Given the description of an element on the screen output the (x, y) to click on. 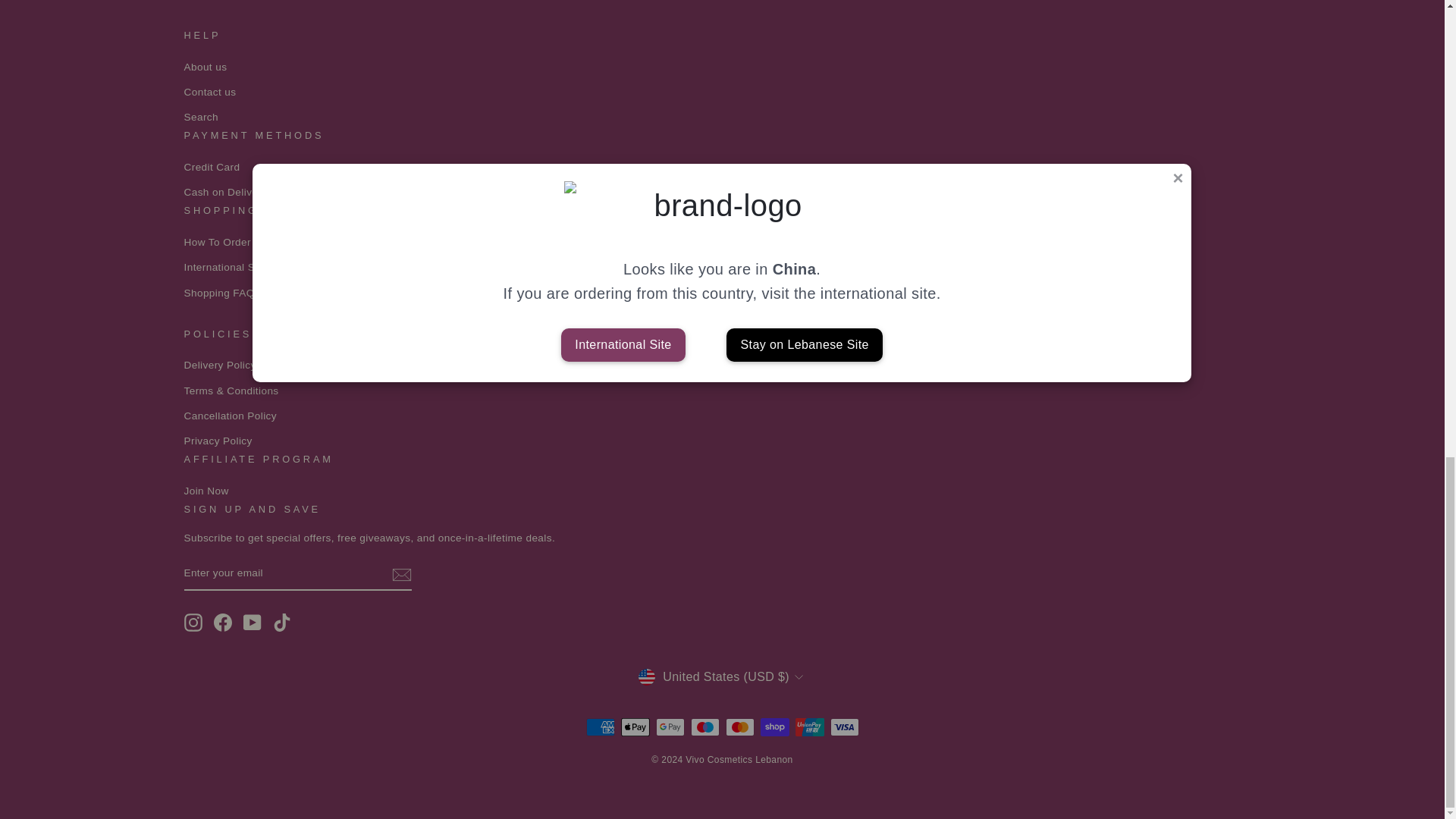
Vivo Cosmetics Lebanon on YouTube (251, 622)
Apple Pay (634, 727)
Mastercard (739, 727)
Vivo Cosmetics Lebanon on Instagram (192, 622)
Vivo Cosmetics Lebanon on Facebook (222, 622)
Google Pay (669, 727)
American Express (599, 727)
icon-email (400, 574)
instagram (192, 622)
Maestro (704, 727)
Vivo Cosmetics Lebanon on TikTok (282, 622)
